Given the description of an element on the screen output the (x, y) to click on. 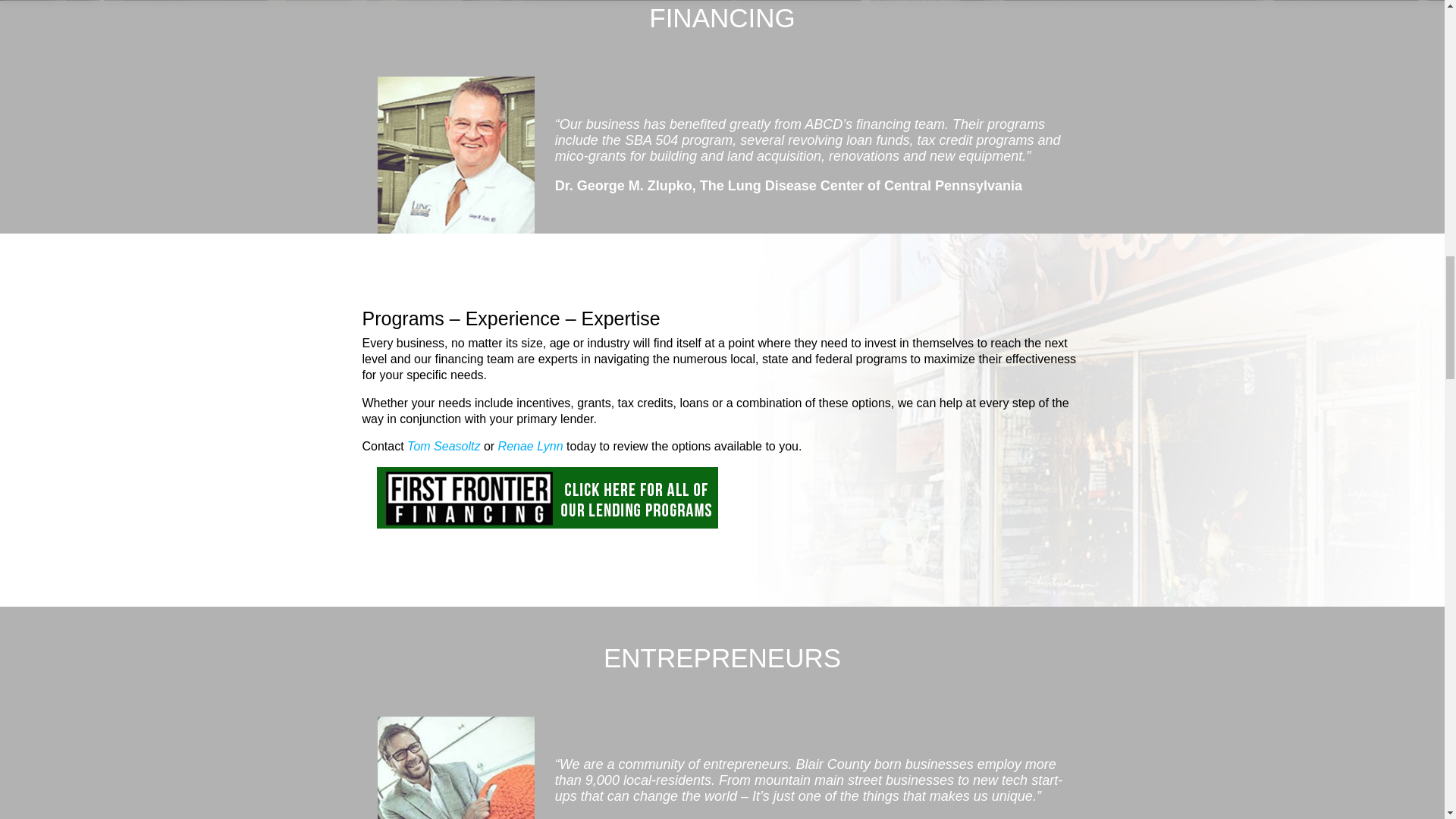
Renae Lynn (530, 445)
Tom Seasoltz (443, 445)
